Given the description of an element on the screen output the (x, y) to click on. 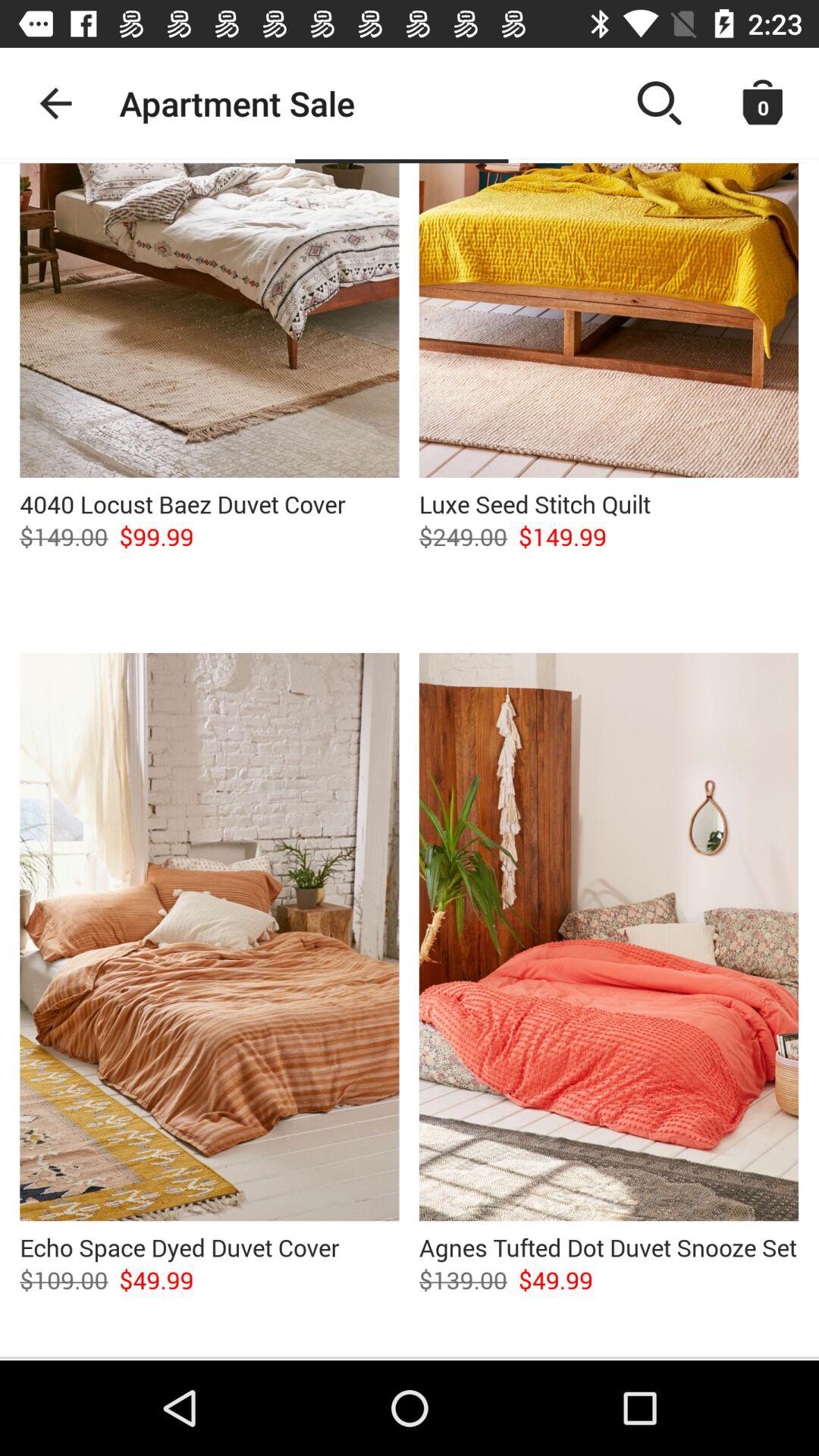
press icon next to apartment sale icon (55, 103)
